Given the description of an element on the screen output the (x, y) to click on. 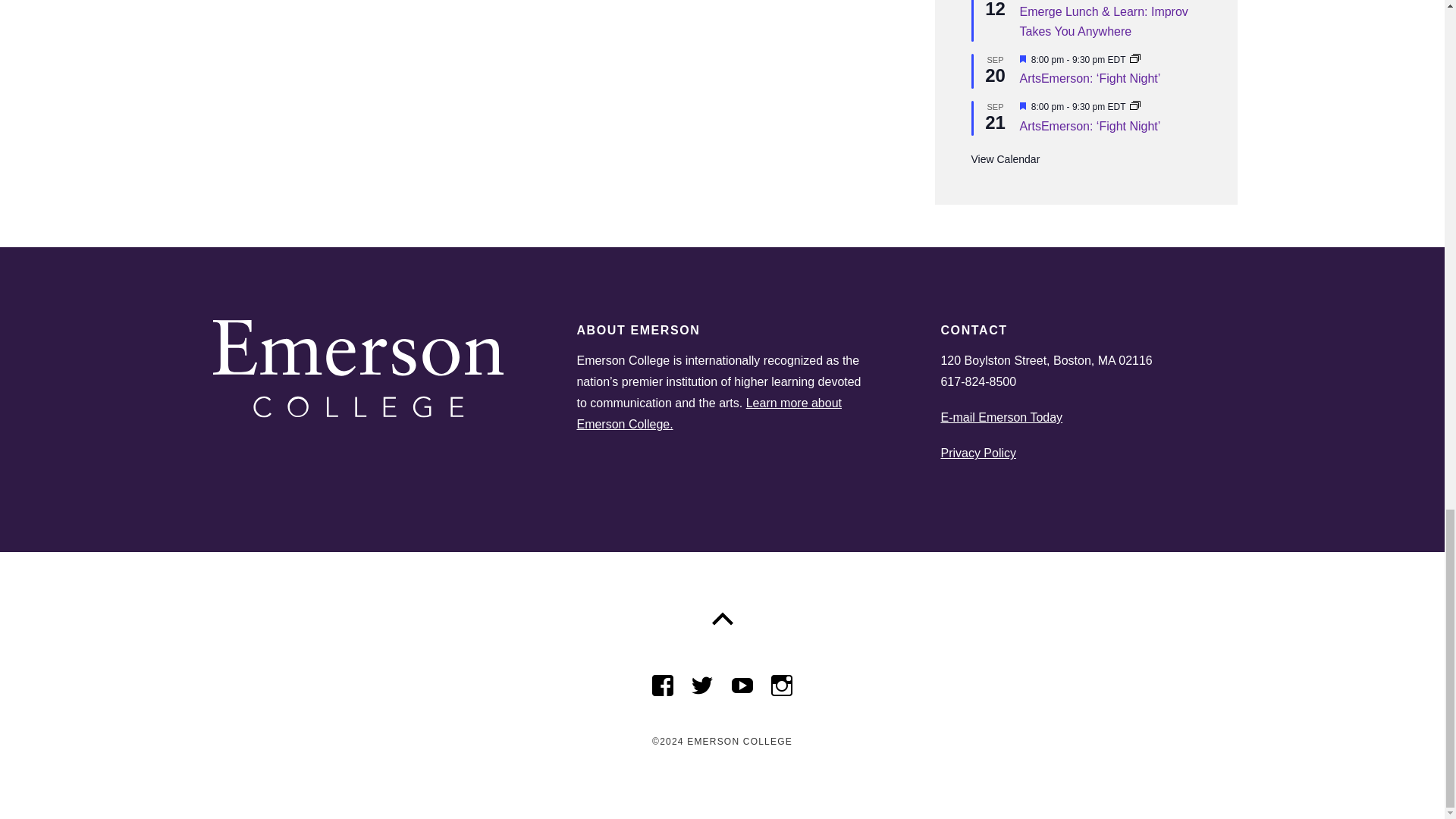
Featured (1022, 106)
Event Series (1134, 59)
View more events. (1005, 159)
Featured (1022, 60)
Event Series (1134, 106)
